Given the description of an element on the screen output the (x, y) to click on. 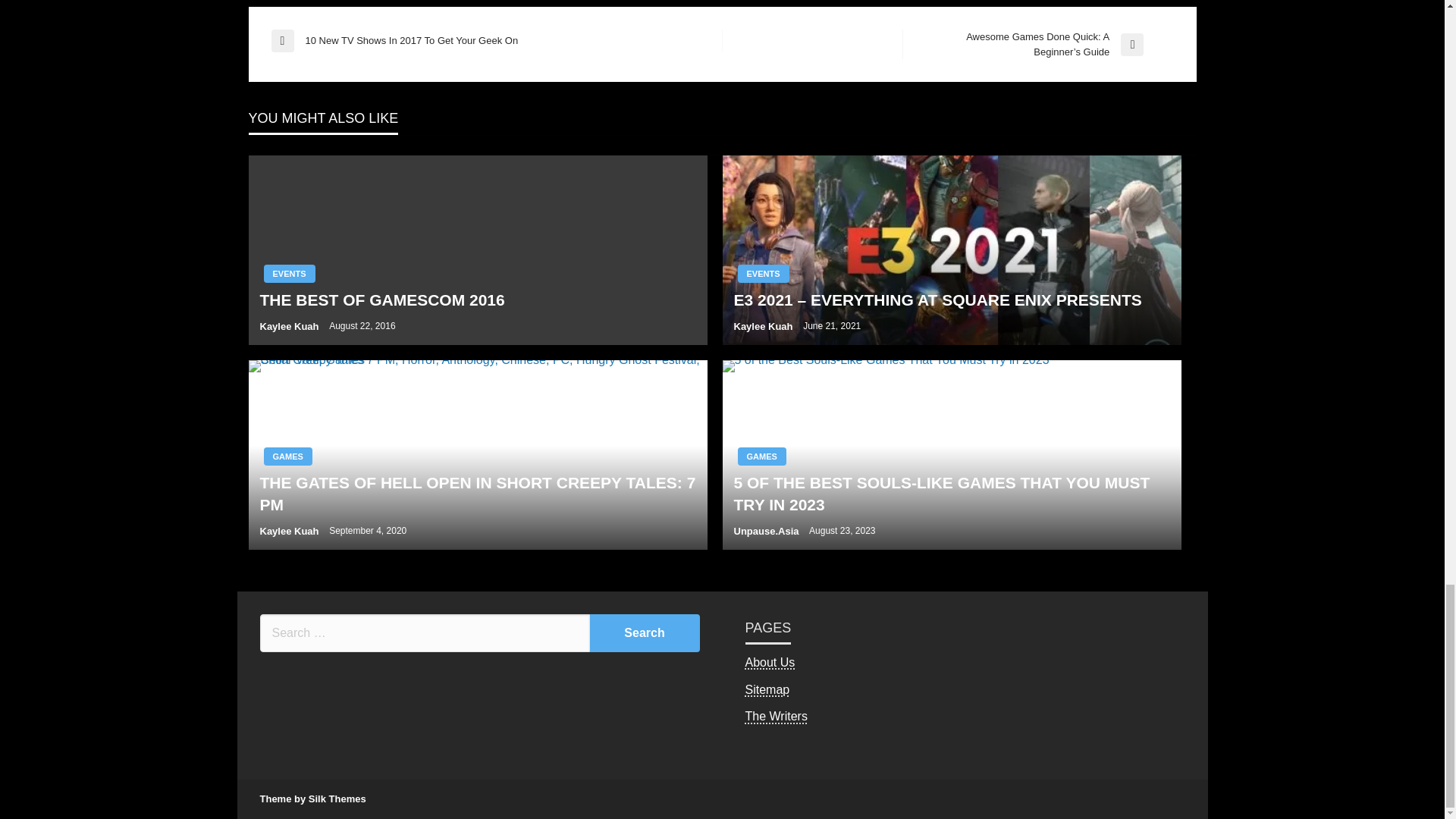
Search (644, 632)
Search (644, 632)
